Given the description of an element on the screen output the (x, y) to click on. 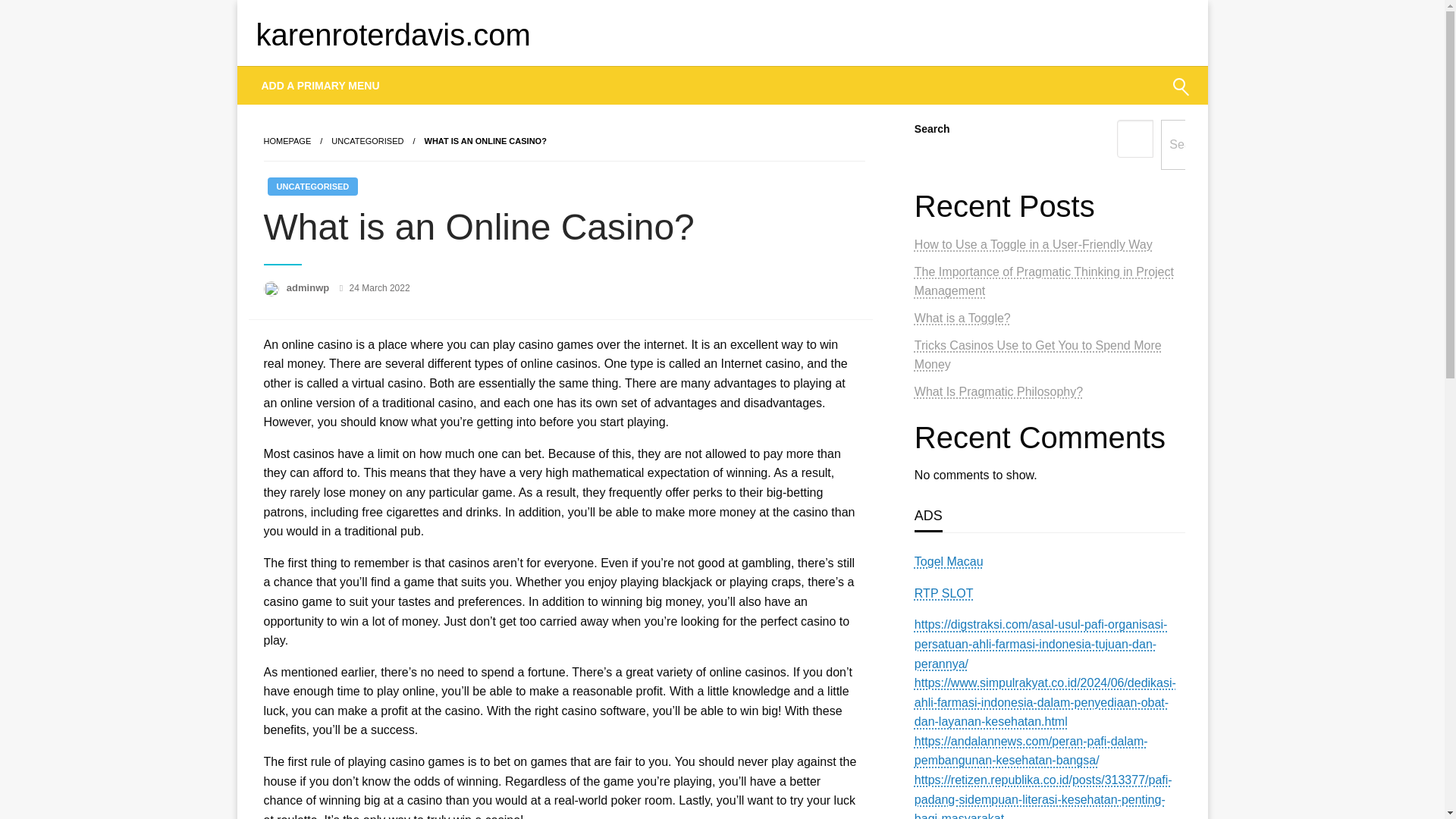
adminwp (308, 287)
The Importance of Pragmatic Thinking in Project Management (1043, 281)
Togel Macau (949, 561)
UNCATEGORISED (367, 140)
What is an Online Casino? (486, 140)
24 March 2022 (379, 287)
RTP SLOT (944, 593)
adminwp (308, 287)
UNCATEGORISED (312, 186)
Search (1144, 95)
karenroterdavis.com (393, 34)
ADD A PRIMARY MENU (320, 85)
How to Use a Toggle in a User-Friendly Way (1033, 244)
Homepage (287, 140)
What Is Pragmatic Philosophy? (998, 391)
